Given the description of an element on the screen output the (x, y) to click on. 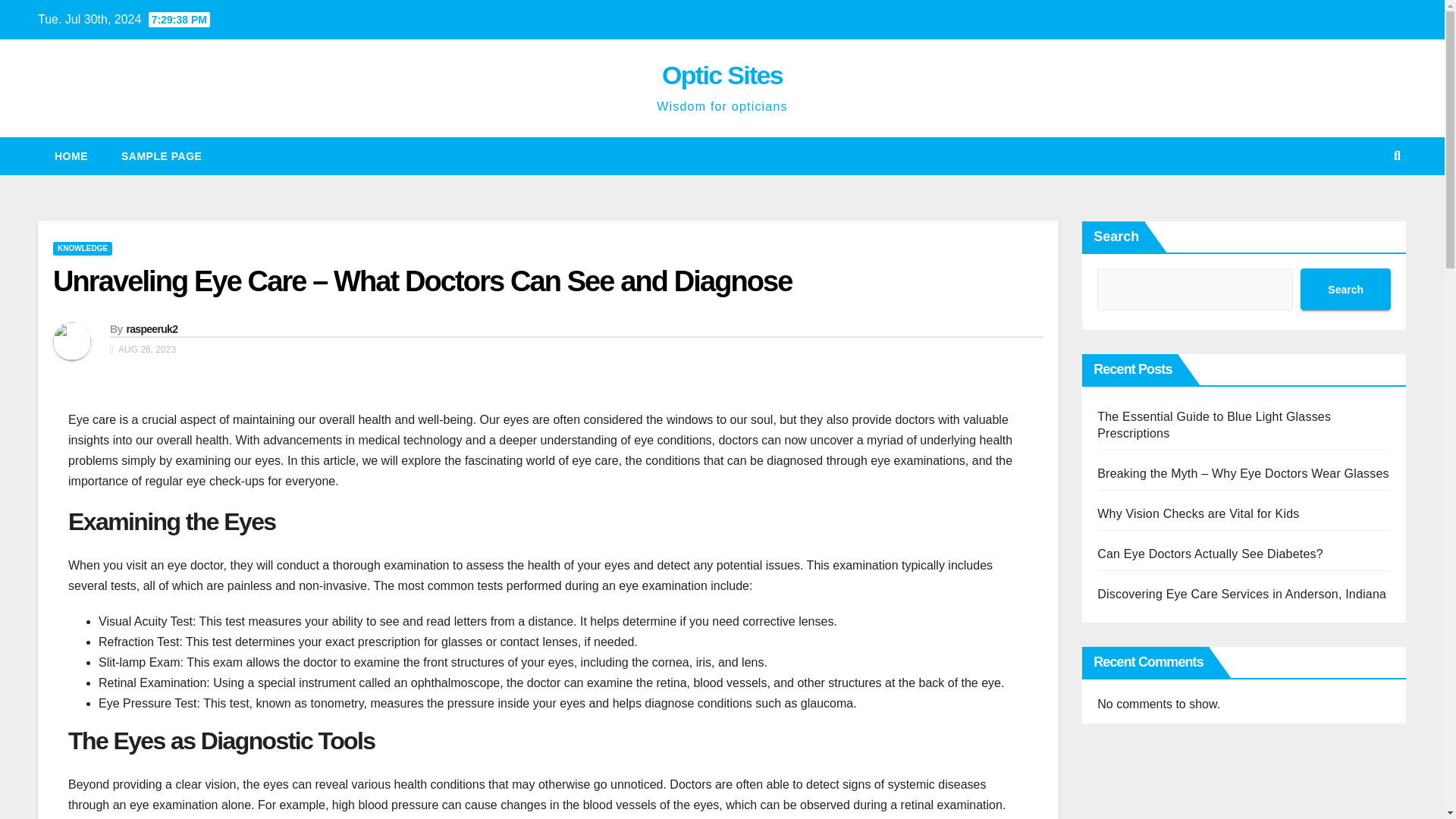
Why Vision Checks are Vital for Kids (1197, 513)
raspeeruk2 (151, 328)
Home (70, 156)
KNOWLEDGE (82, 248)
The Essential Guide to Blue Light Glasses Prescriptions (1213, 424)
Optic Sites (722, 74)
Can Eye Doctors Actually See Diabetes? (1210, 553)
Search (1345, 289)
SAMPLE PAGE (161, 156)
Discovering Eye Care Services in Anderson, Indiana (1241, 594)
HOME (70, 156)
